Given the description of an element on the screen output the (x, y) to click on. 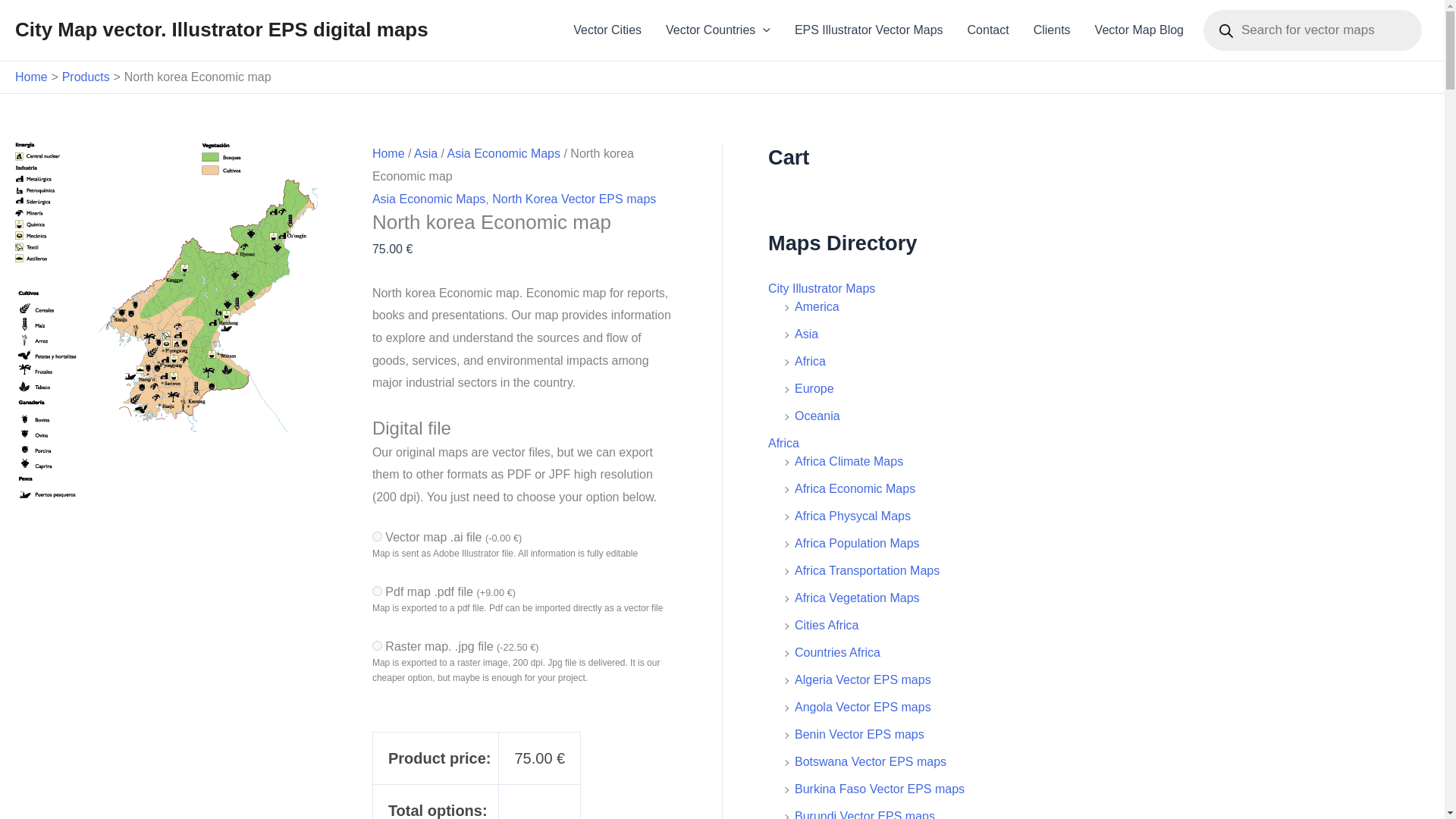
North korea Economic map (180, 319)
Vector Cities (606, 30)
Vector Countries (718, 30)
1 (376, 591)
0 (376, 536)
City Map vector. Illustrator EPS digital maps (221, 29)
2 (376, 645)
